Given the description of an element on the screen output the (x, y) to click on. 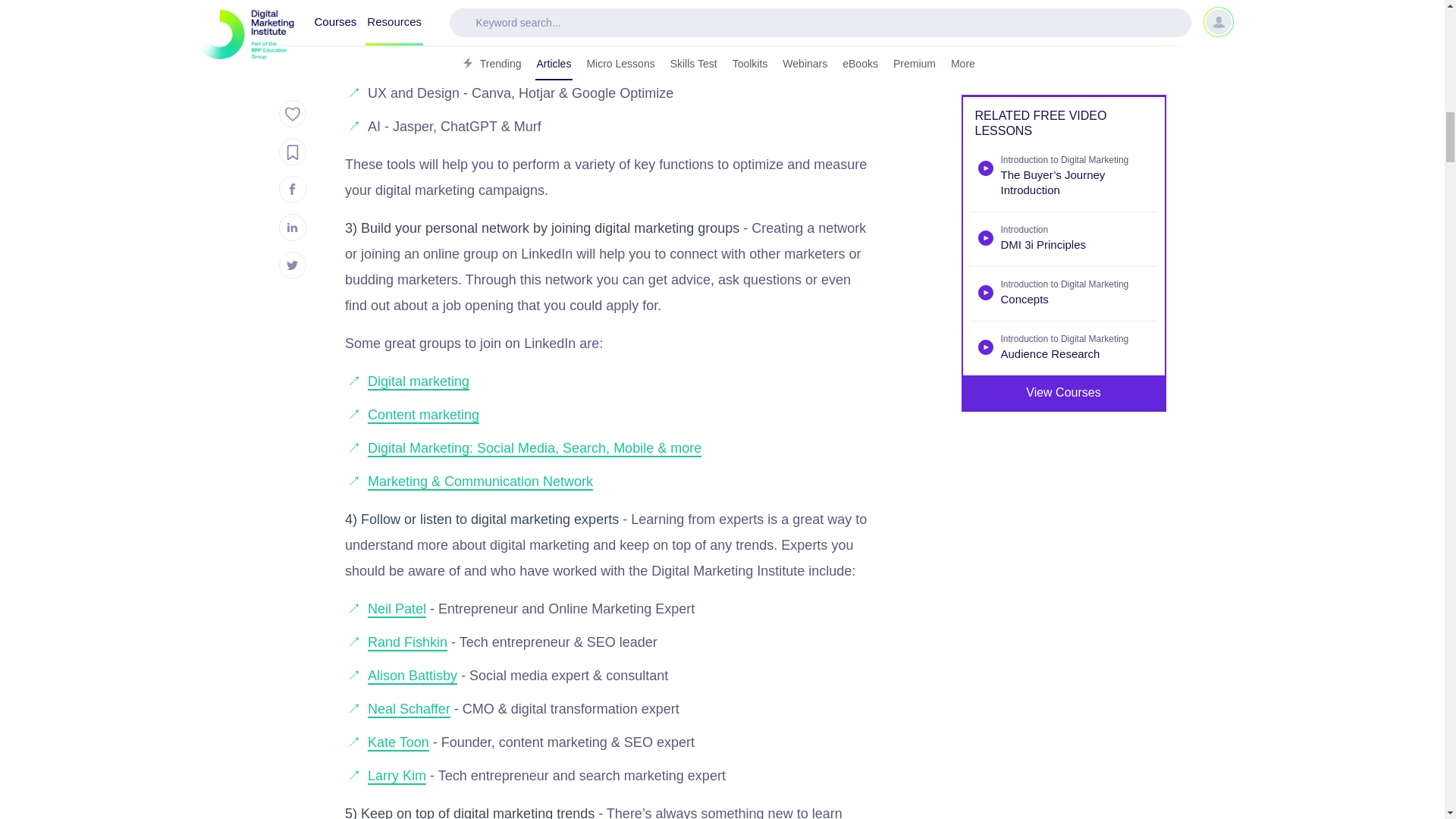
Neal Schaffer (408, 709)
Alison Battisby (412, 676)
Content marketing (423, 415)
Neil Patel (397, 609)
Digital marketing (418, 381)
Kate Toon (398, 742)
Rand Fishkin (407, 642)
